Given the description of an element on the screen output the (x, y) to click on. 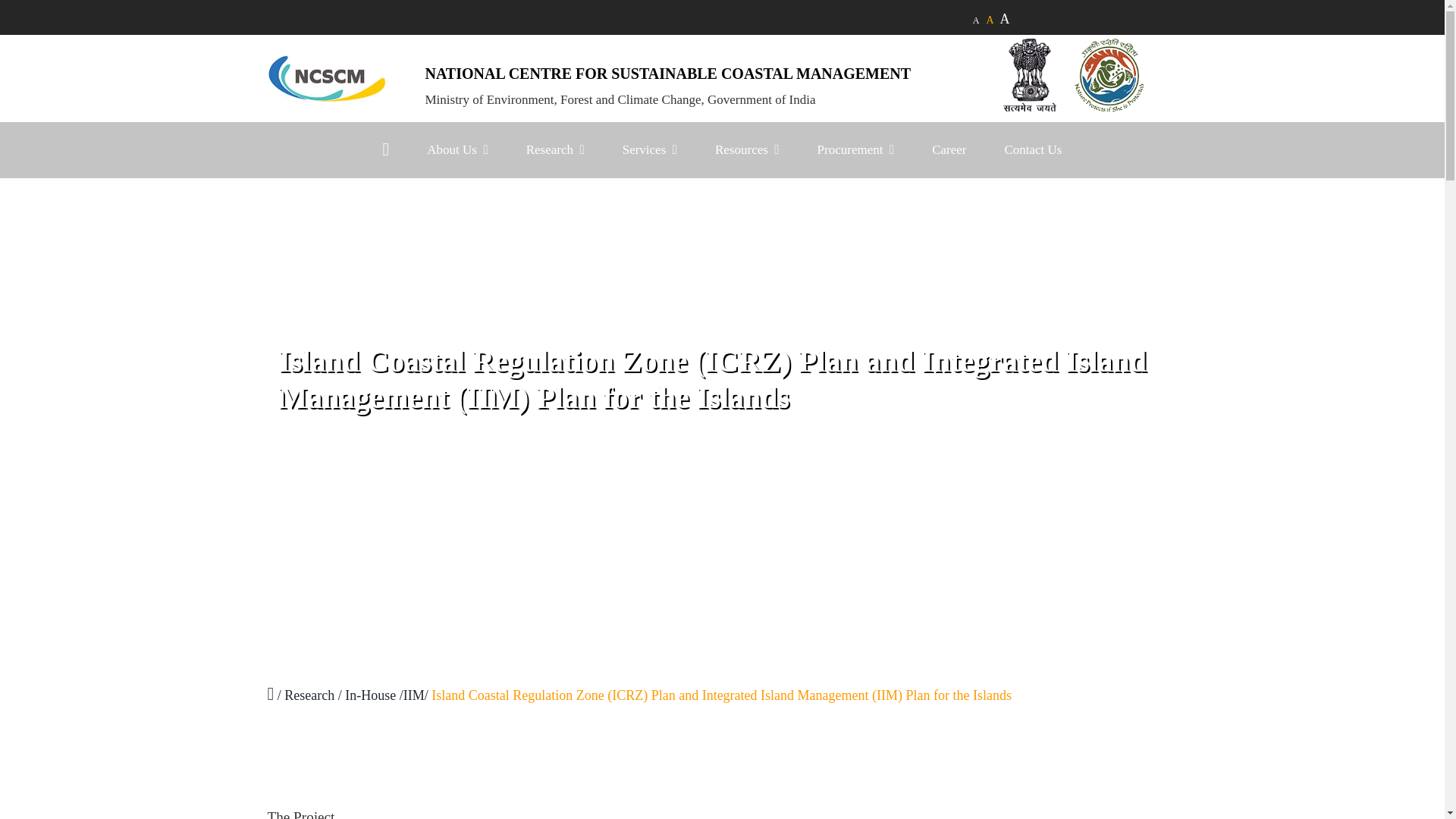
moe11 (1108, 75)
About Us (456, 150)
Research (555, 150)
Services (650, 150)
